Given the description of an element on the screen output the (x, y) to click on. 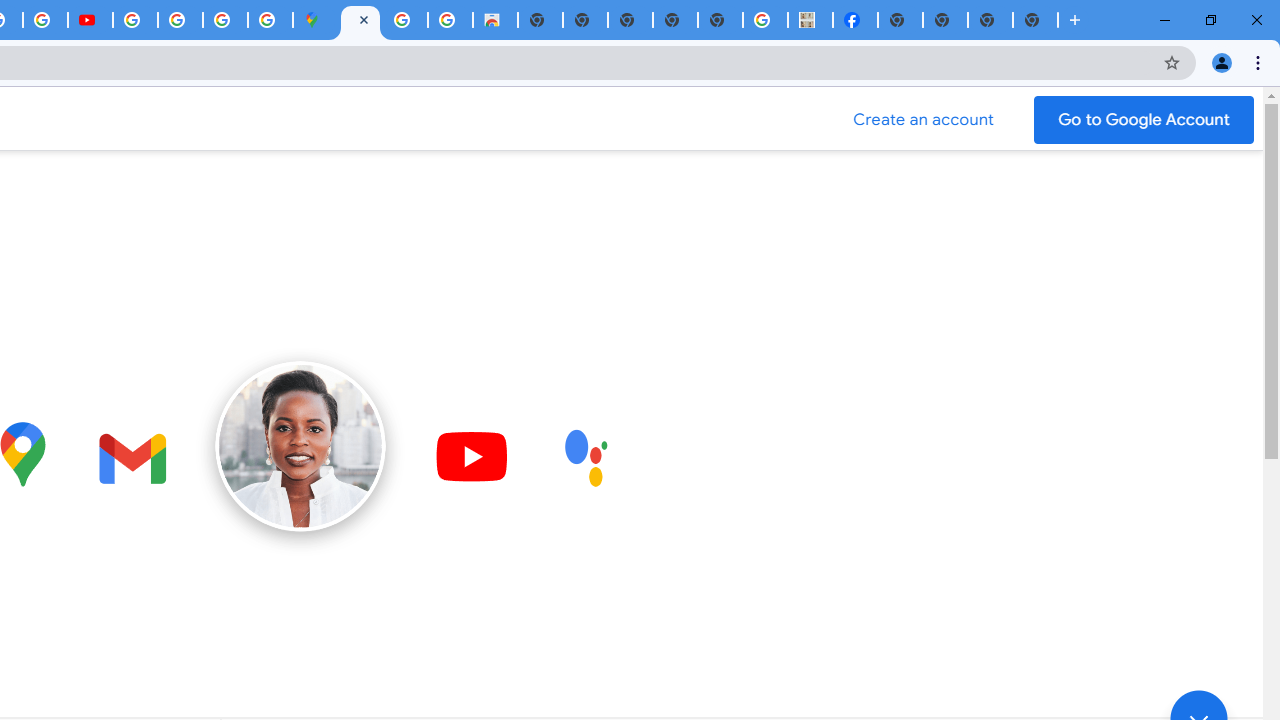
New Tab (1035, 20)
Miley Cyrus | Facebook (855, 20)
Create a Google Account (923, 119)
New Tab (900, 20)
Subscriptions - YouTube (89, 20)
How Chrome protects your passwords - Google Chrome Help (134, 20)
MILEY CYRUS. (810, 20)
